Given the description of an element on the screen output the (x, y) to click on. 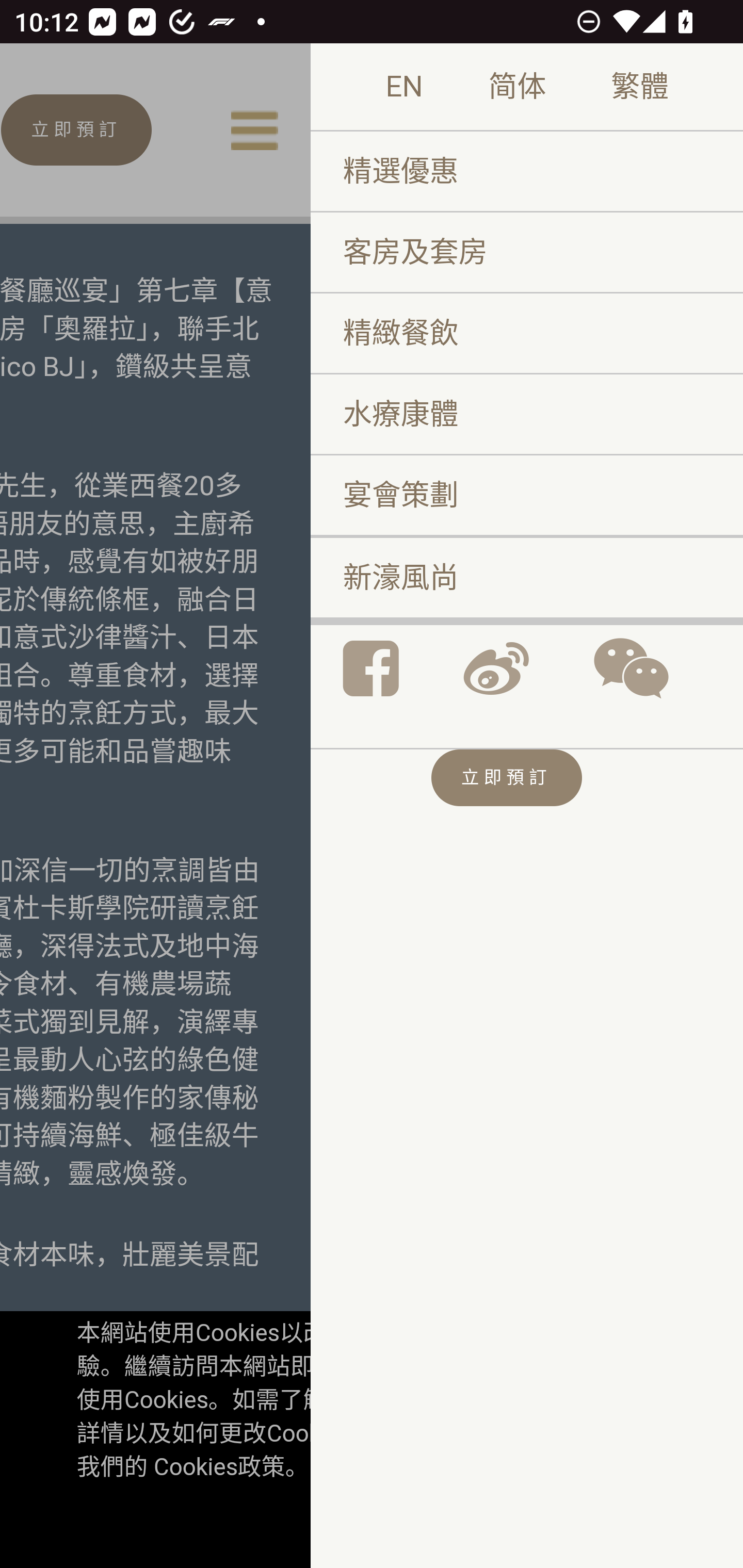
精選優惠 (526, 172)
客房及套房 (526, 253)
精緻餐飲 (526, 333)
水療康體 (526, 413)
宴會策劃 (526, 495)
新濠風尚 (526, 578)
 (370, 668)
 (495, 668)
 (630, 668)
立即預訂 (506, 779)
